Given the description of an element on the screen output the (x, y) to click on. 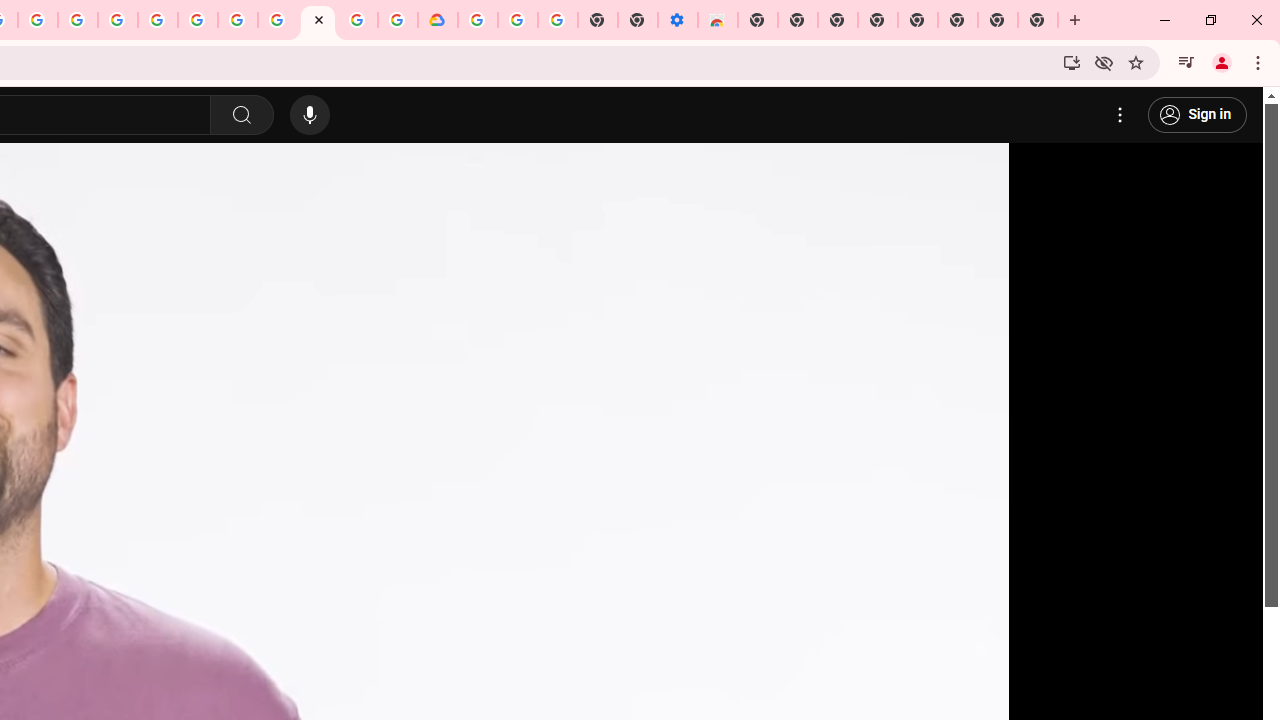
New Tab (1037, 20)
